Given the description of an element on the screen output the (x, y) to click on. 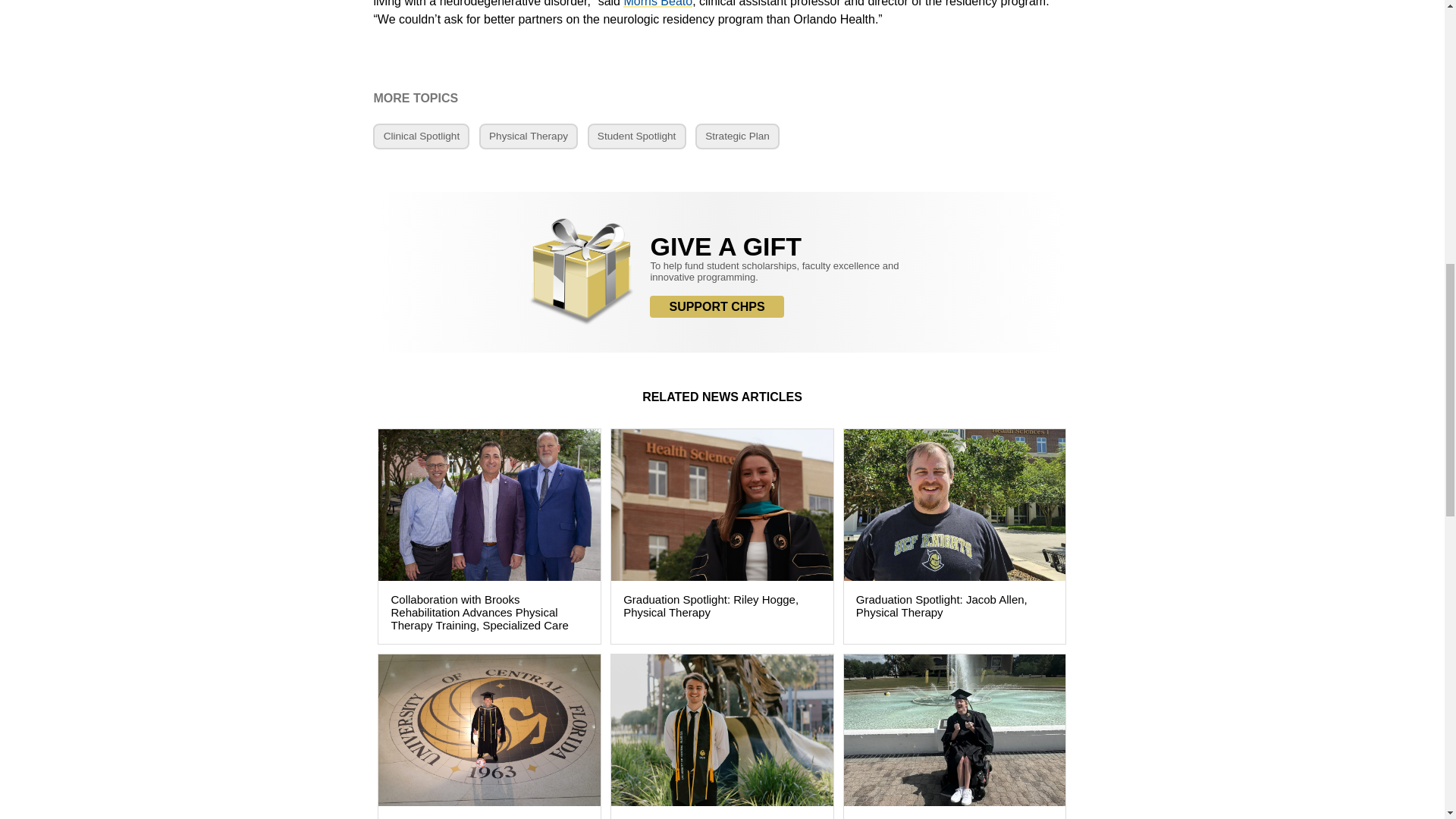
Graduation Spotlight: Riley Hogge, Physical Therapy (722, 536)
Graduation Spotlight: Keisuke Ota, Kinesiology (489, 736)
Graduation Spotlight: Andrew Wiater, Social Work (955, 736)
Graduation Spotlight: Jacob Allen, Physical Therapy (955, 536)
Graduation Spotlight: Calvin MacDonald, Health Sciences (722, 736)
